Given the description of an element on the screen output the (x, y) to click on. 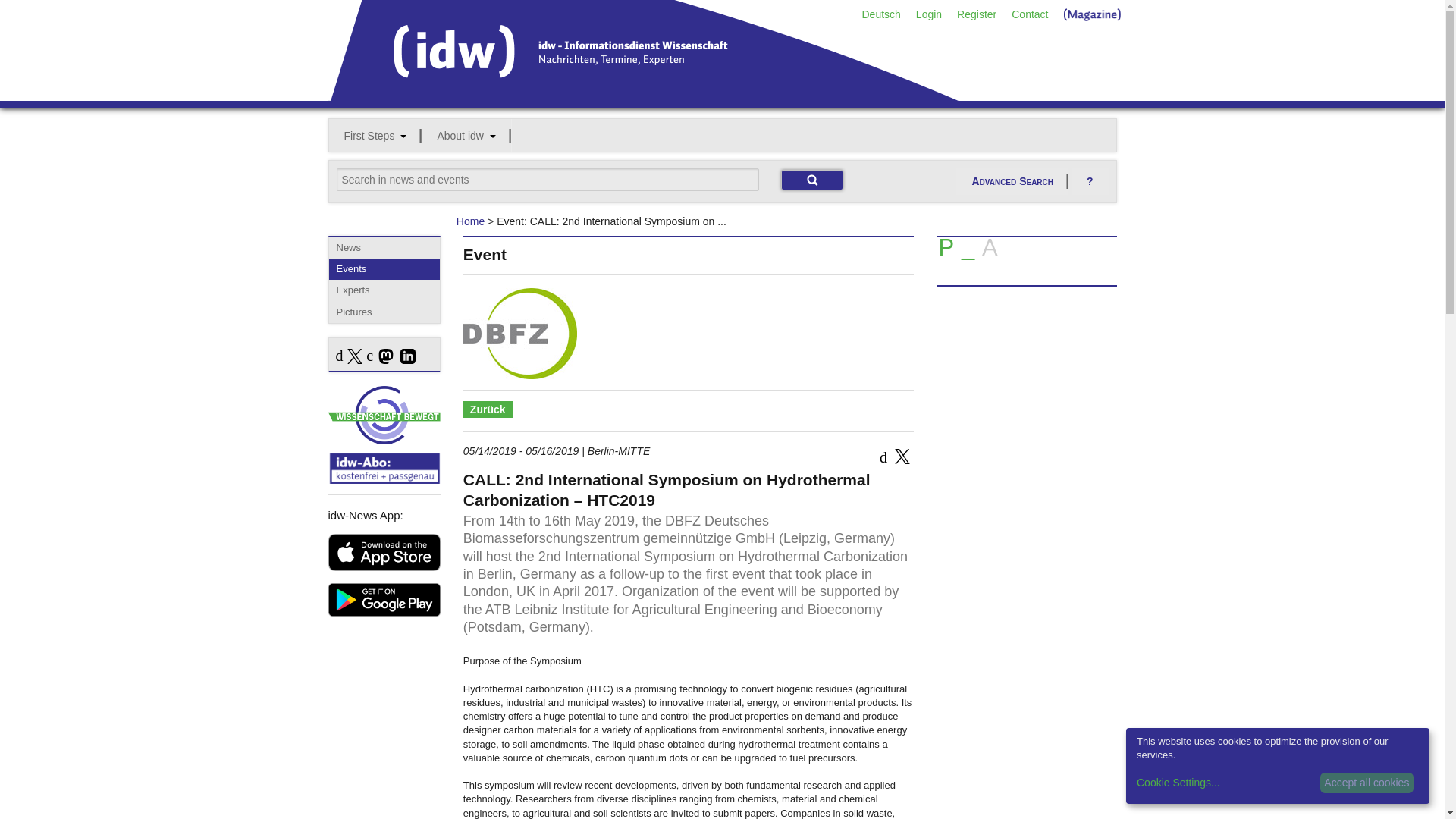
View print layout (945, 251)
News (384, 247)
short link (967, 251)
Events (384, 269)
First Steps (375, 135)
Login (928, 14)
Register (976, 14)
? (1089, 181)
Pictures (384, 312)
Forward (988, 251)
LinkedIn (405, 357)
Mastodon (384, 357)
Twitter (902, 460)
Zur Startseite (643, 95)
Deutsch (880, 14)
